Given the description of an element on the screen output the (x, y) to click on. 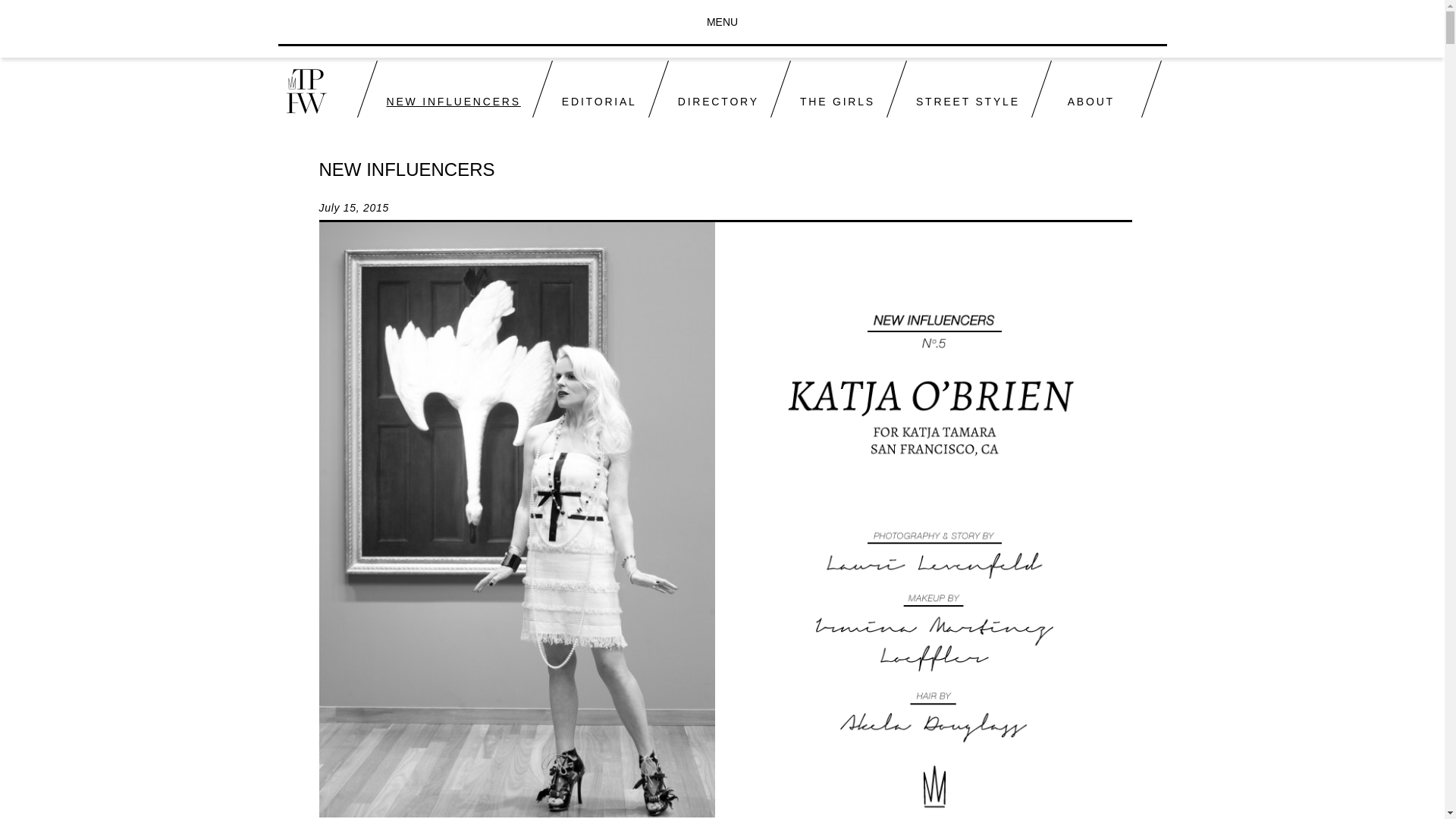
Skip to content (757, 68)
Skip to content (757, 68)
ABOUT (1085, 88)
STREET STYLE (962, 88)
EDITORIAL (594, 88)
DIRECTORY (712, 88)
NEW INFLUENCERS (448, 88)
THE GIRLS (832, 88)
